Given the description of an element on the screen output the (x, y) to click on. 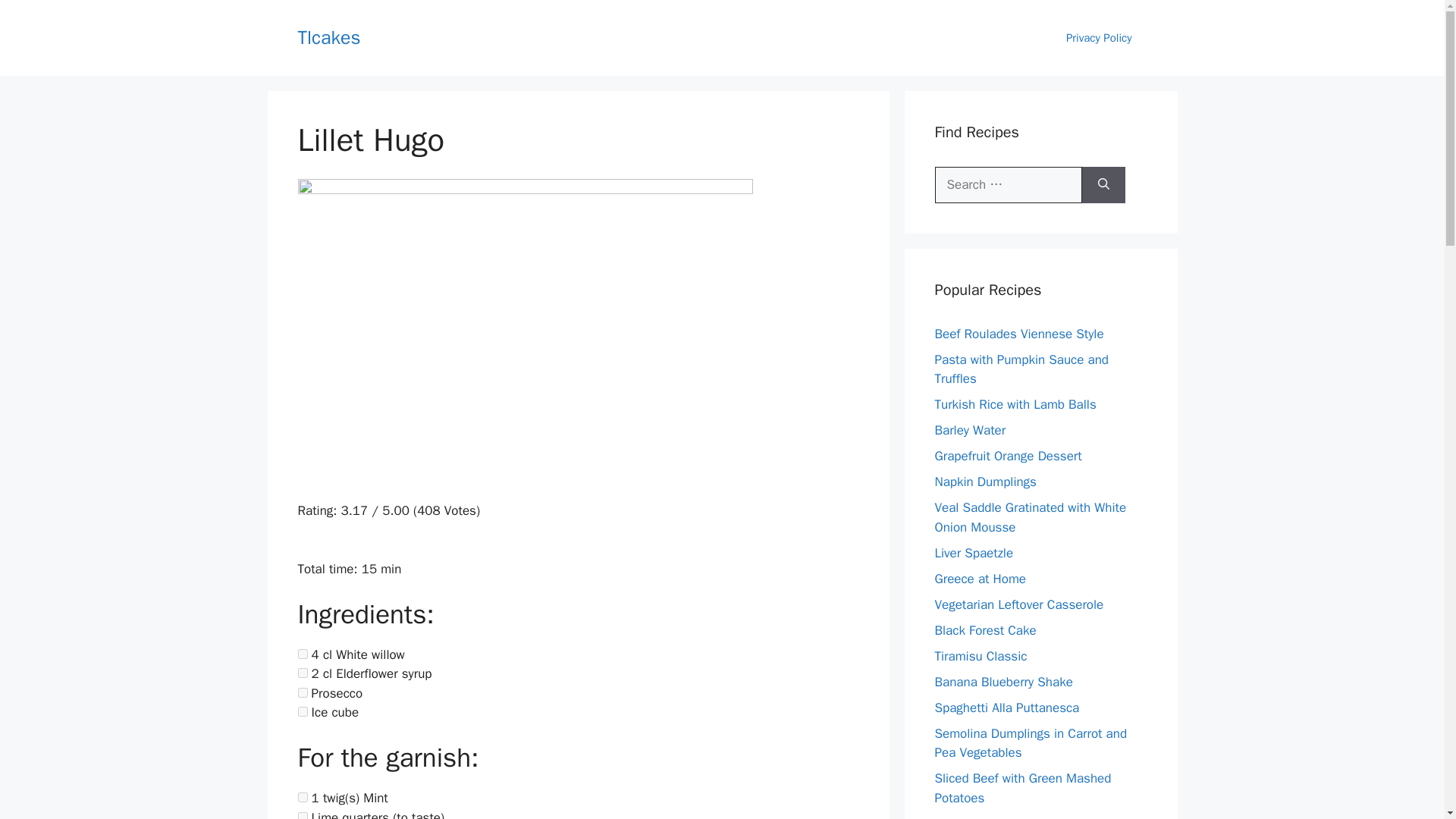
Black Forest Cake (984, 629)
Barley Water (970, 430)
Beef Roulades Viennese Style (1018, 333)
Napkin Dumplings (984, 481)
Liver Spaetzle (973, 552)
Tiramisu Classic (980, 655)
Greece at Home (980, 578)
Tlcakes (328, 37)
  Ice cube (302, 711)
Turkish Rice with Lamb Balls (1015, 404)
Spaghetti Alla Puttanesca (1006, 706)
2 cl Elderflower syrup (302, 673)
Grapefruit Orange Dessert (1007, 455)
4 cl White willow (302, 654)
Pasta with Pumpkin Sauce and Truffles (1021, 369)
